Given the description of an element on the screen output the (x, y) to click on. 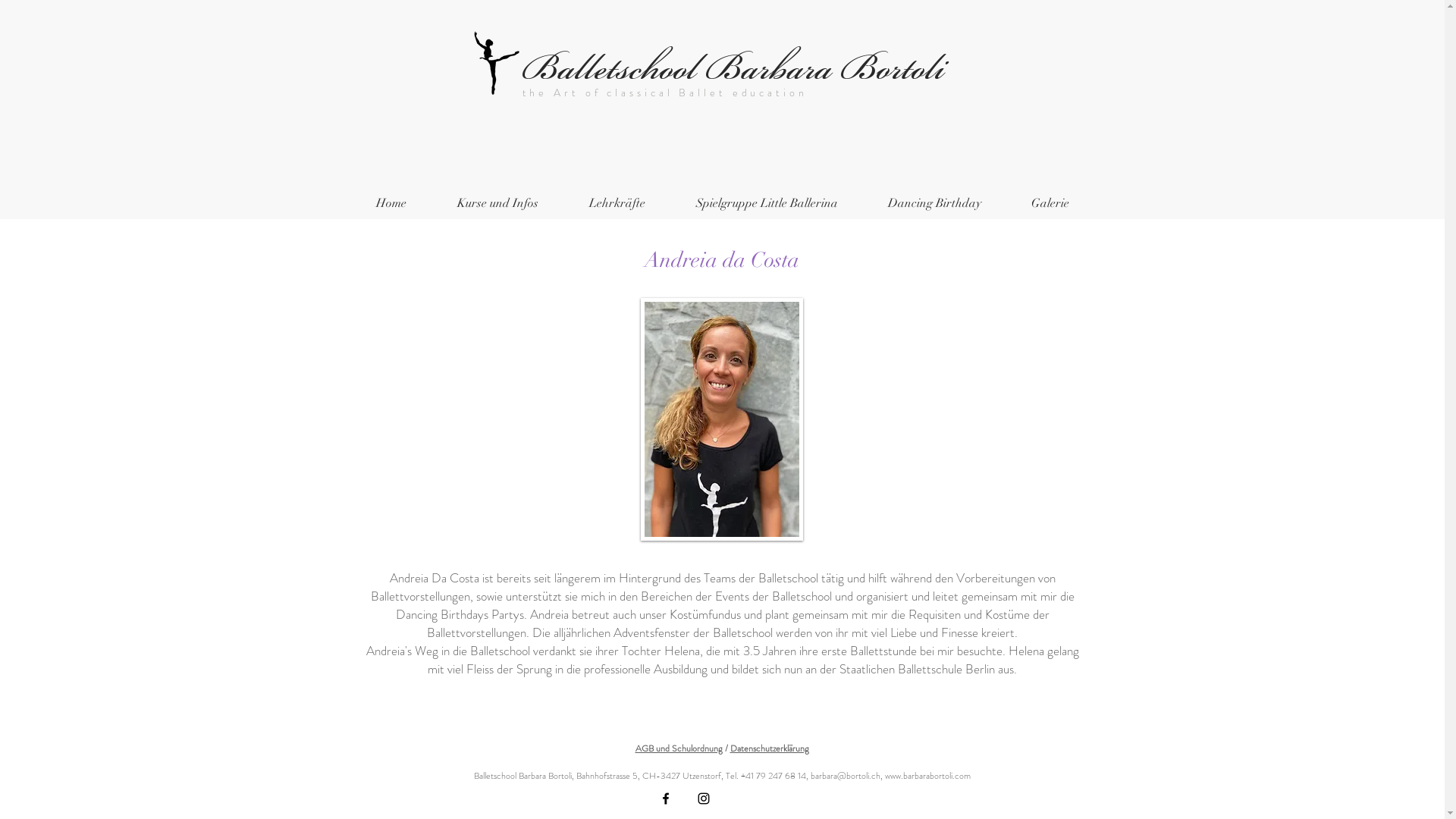
the Art of classical Ballet education Element type: text (663, 92)
Home Element type: text (390, 203)
Galerie Element type: text (1049, 203)
AGB und Schulordnung Element type: text (678, 748)
www.barbarabortoli.com Element type: text (926, 775)
Spielgruppe Little Ballerina Element type: text (766, 203)
barbara@bortoli.ch Element type: text (844, 775)
Balletschool Barbara Bortoli Element type: text (732, 67)
Dancing Birthday Element type: text (934, 203)
Kurse und Infos Element type: text (498, 203)
